Given the description of an element on the screen output the (x, y) to click on. 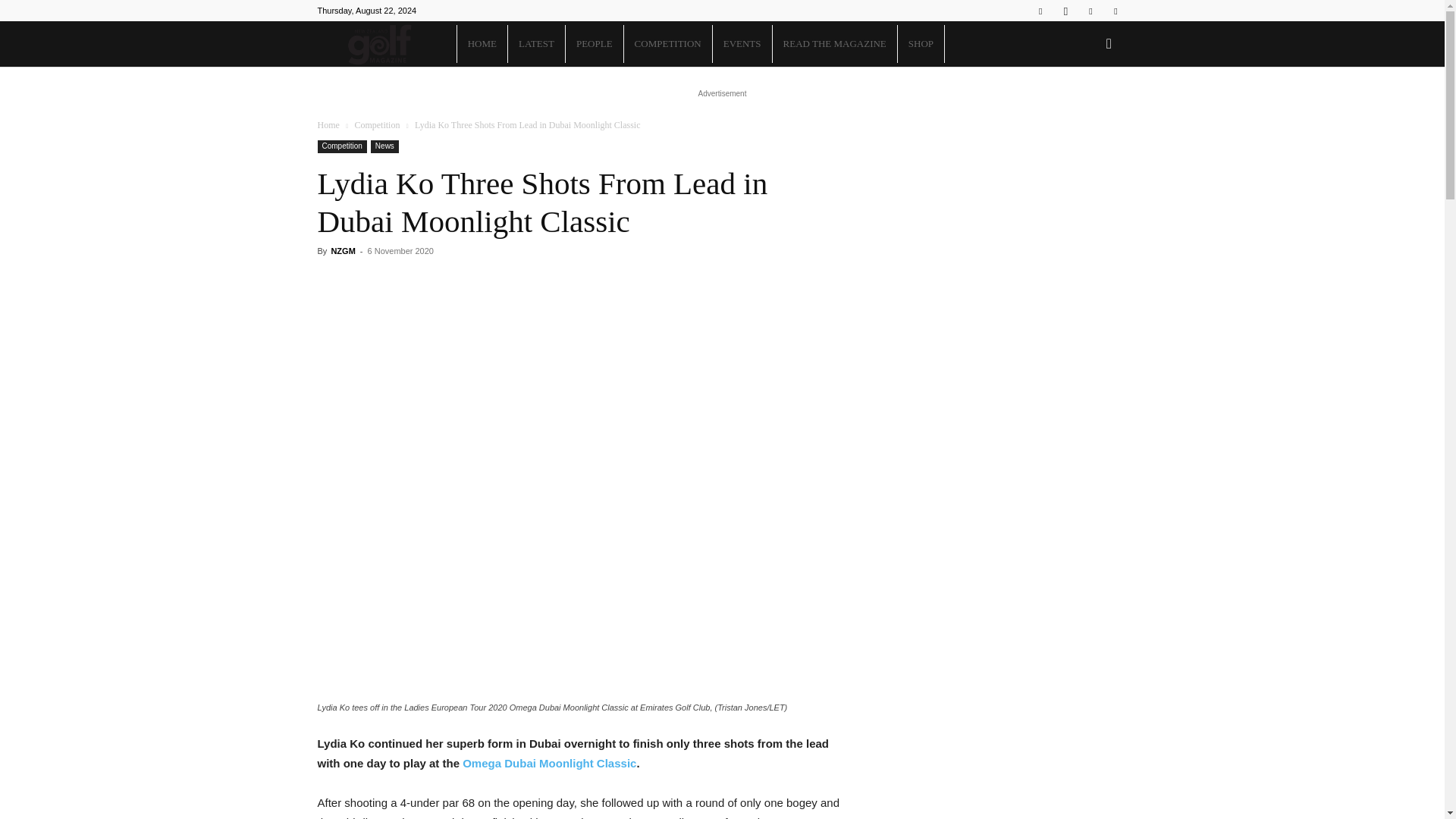
Instagram (1065, 10)
HOME (481, 44)
LATEST (536, 44)
Twitter (1114, 10)
PEOPLE (594, 44)
NZ Golf Magazine (386, 44)
Facebook (1040, 10)
NZ Golf Magazine (379, 44)
Linkedin (1090, 10)
